Given the description of an element on the screen output the (x, y) to click on. 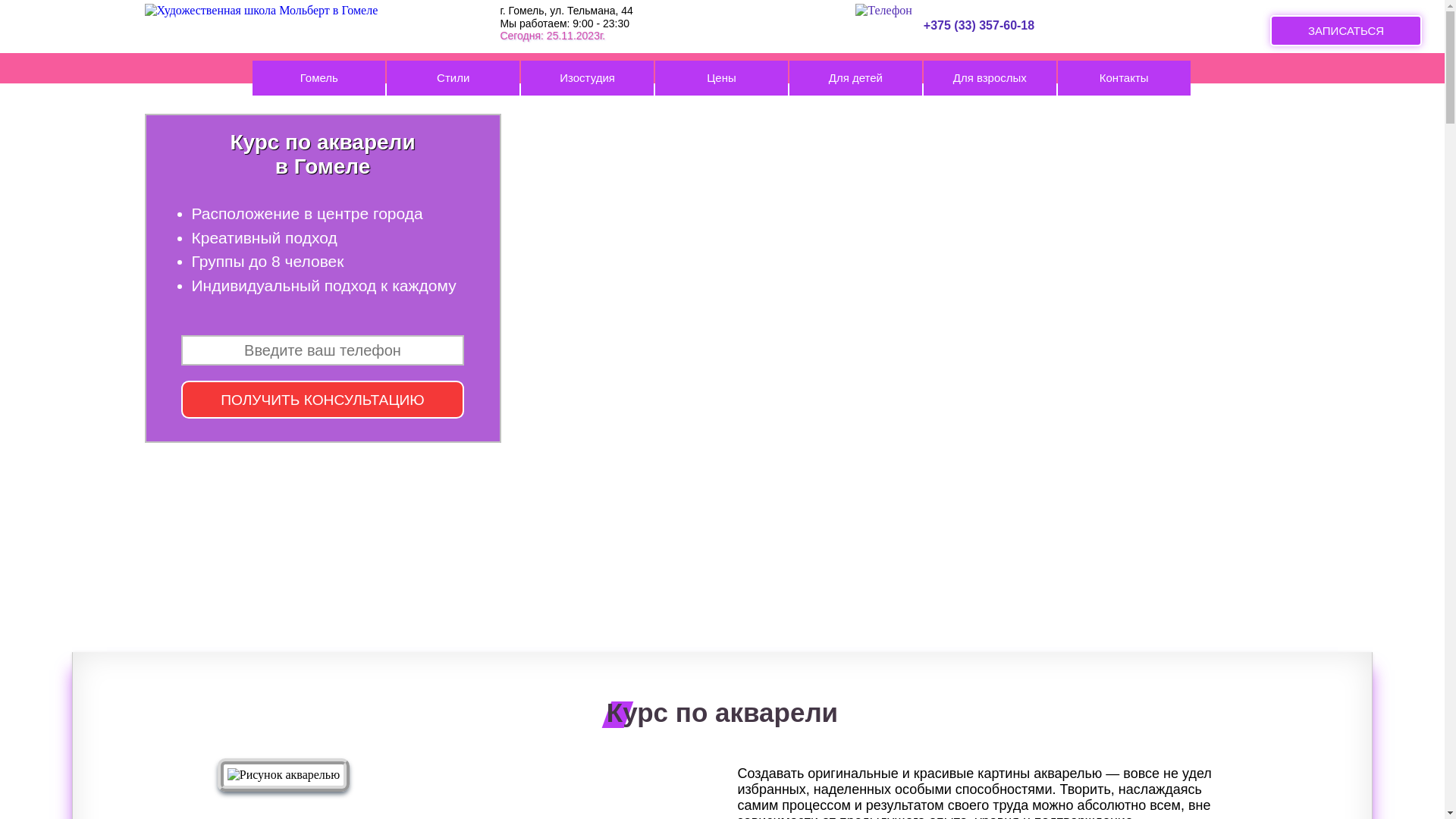
+375 (33) 357-60-18 Element type: text (973, 17)
